Given the description of an element on the screen output the (x, y) to click on. 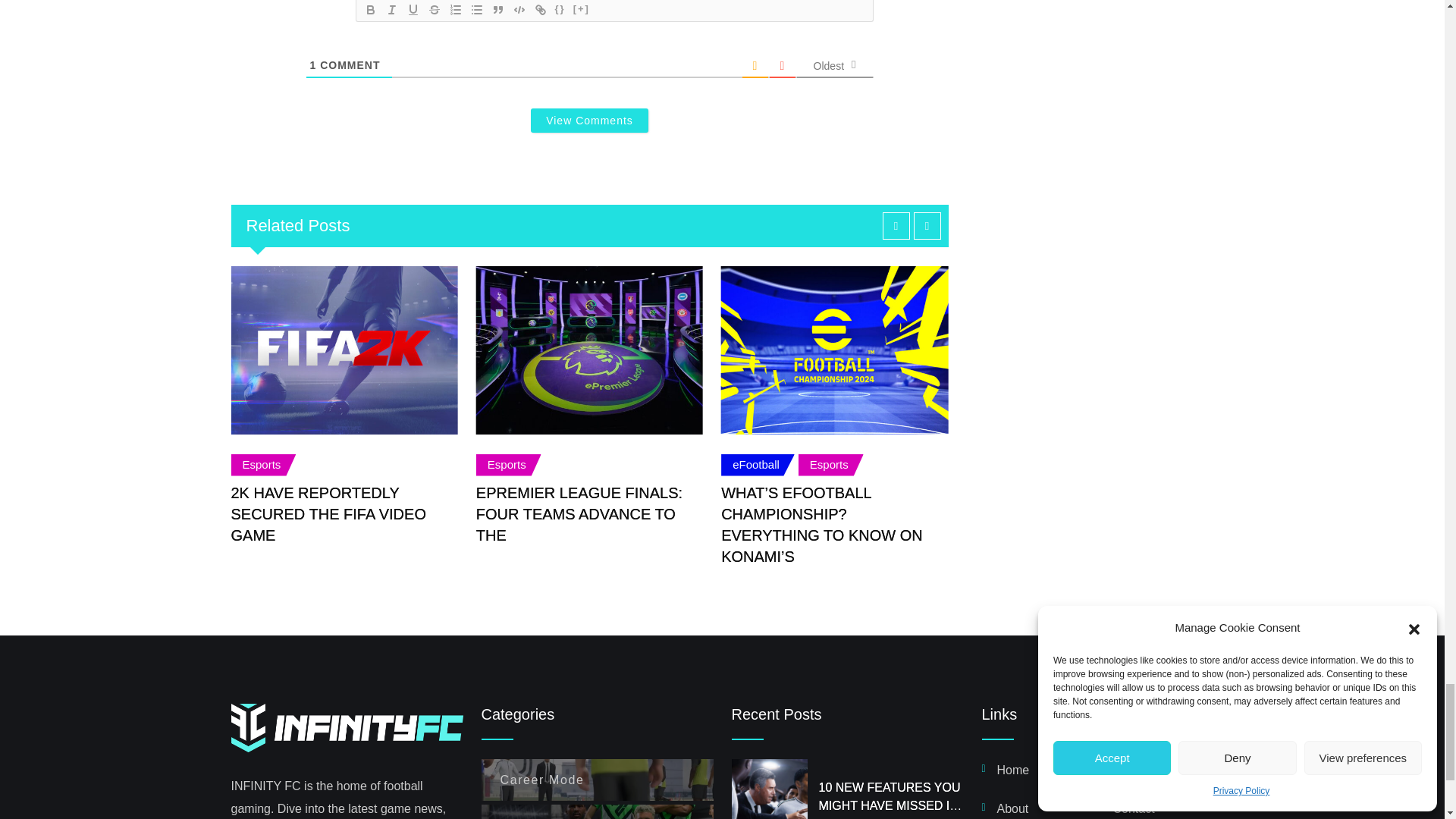
Code Block (518, 9)
Ordered List (454, 9)
Unordered List (475, 9)
Blockquote (497, 9)
Strike (433, 9)
Link (539, 9)
Italic (390, 9)
Bold (369, 9)
Underline (412, 9)
